Given the description of an element on the screen output the (x, y) to click on. 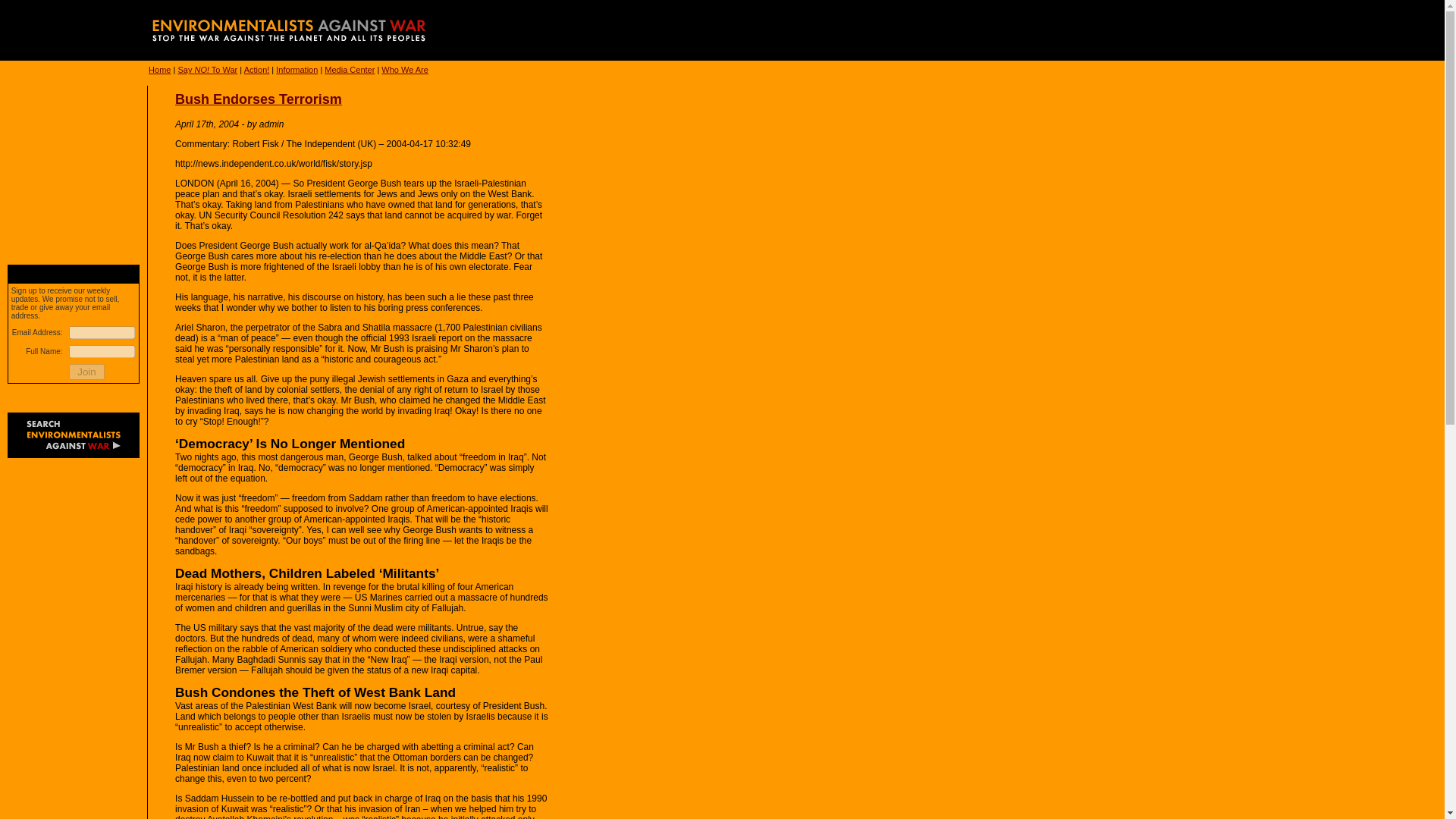
Information (296, 69)
Who We Are (404, 69)
Action! (256, 69)
 Join  (86, 371)
Say NO! To War (207, 69)
Permanent Link to Bush Endorses Terrorism (258, 99)
 Join  (86, 371)
Bush Endorses Terrorism (258, 99)
Media Center (349, 69)
Home (159, 69)
